Given the description of an element on the screen output the (x, y) to click on. 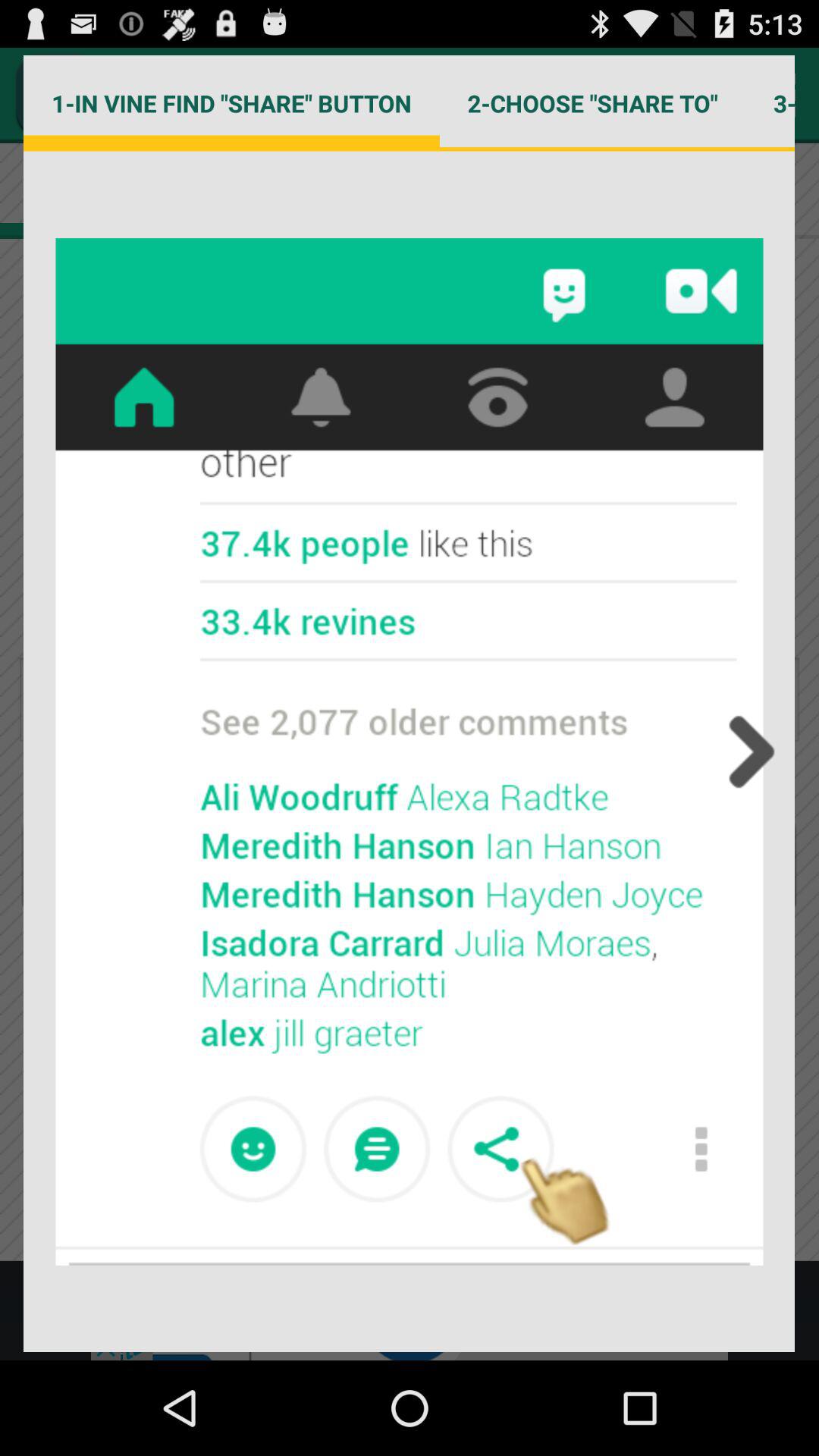
press 1 in vine item (231, 103)
